Given the description of an element on the screen output the (x, y) to click on. 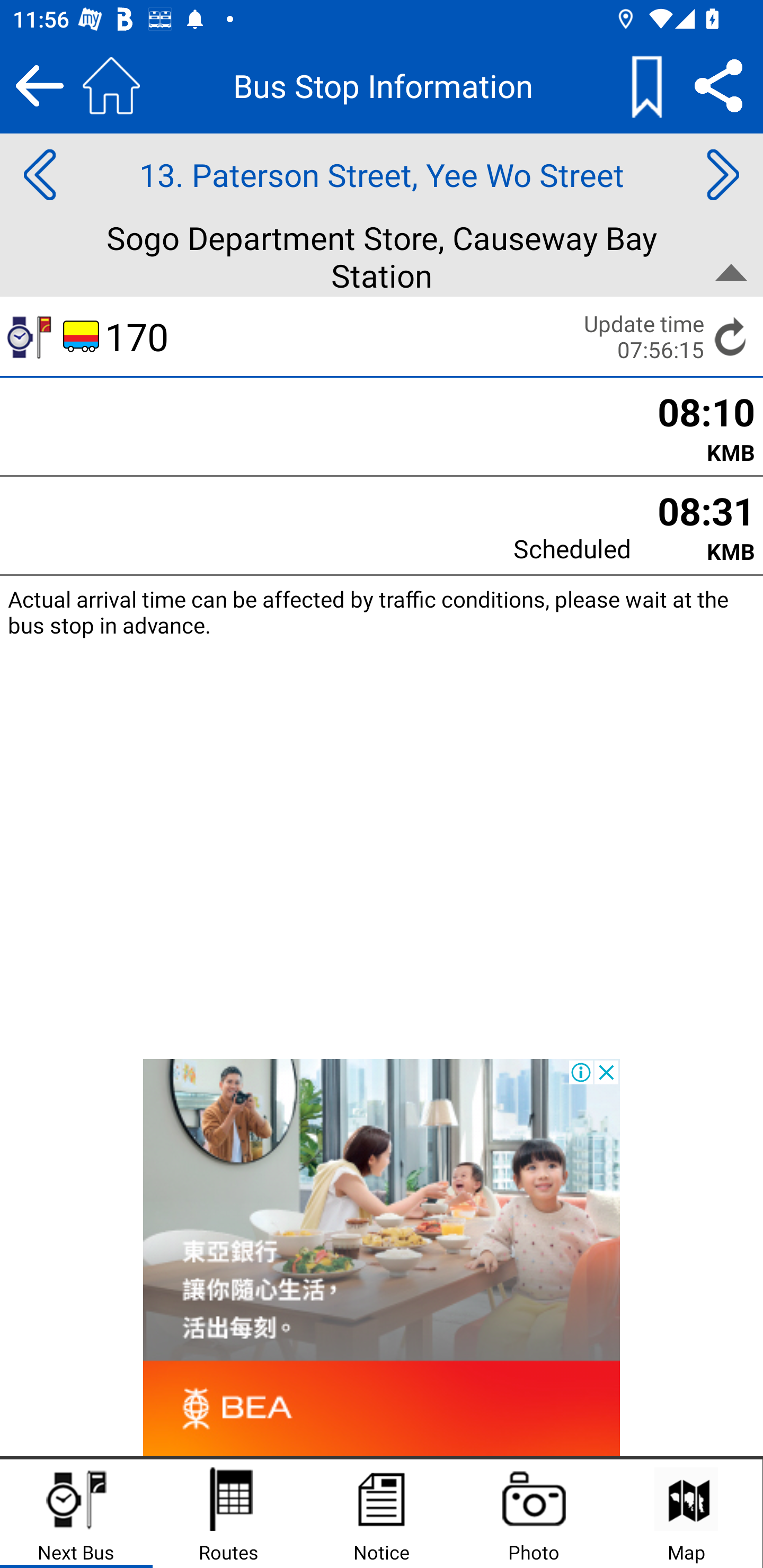
Jump to home page (111, 85)
Add bookmark (646, 85)
Share point to point route search criteria) (718, 85)
Back (39, 85)
Previous stop (39, 174)
Next stop (723, 174)
Sogo Department Store, Causeway Bay Station (381, 256)
Refresh (731, 336)
Advertisement (381, 1257)
Next Bus (76, 1513)
Routes (228, 1513)
Notice (381, 1513)
Photo (533, 1513)
Map (686, 1513)
